Given the description of an element on the screen output the (x, y) to click on. 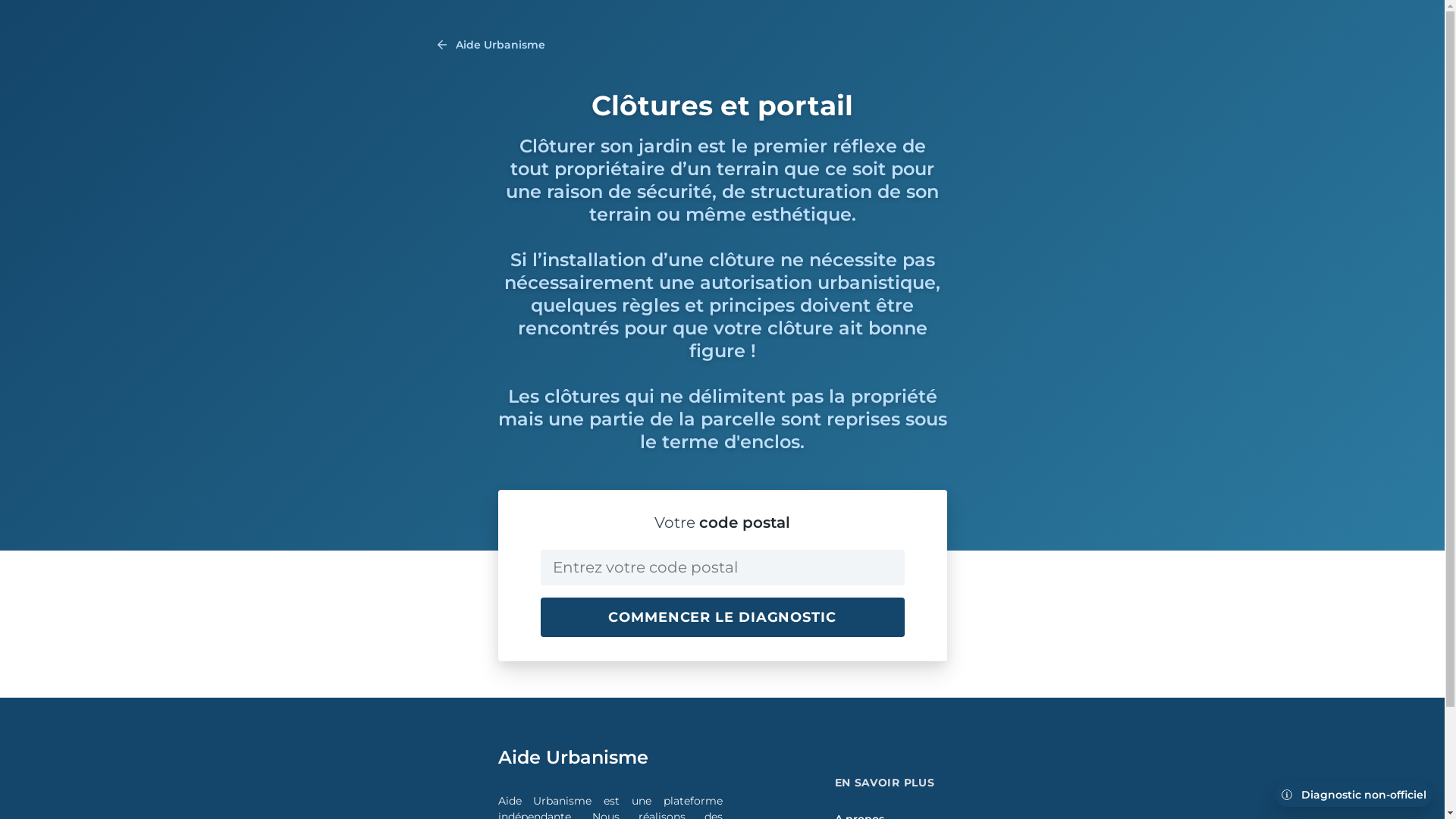
Aide Urbanisme Element type: text (490, 44)
COMMENCER LE DIAGNOSTIC Element type: text (721, 617)
